Given the description of an element on the screen output the (x, y) to click on. 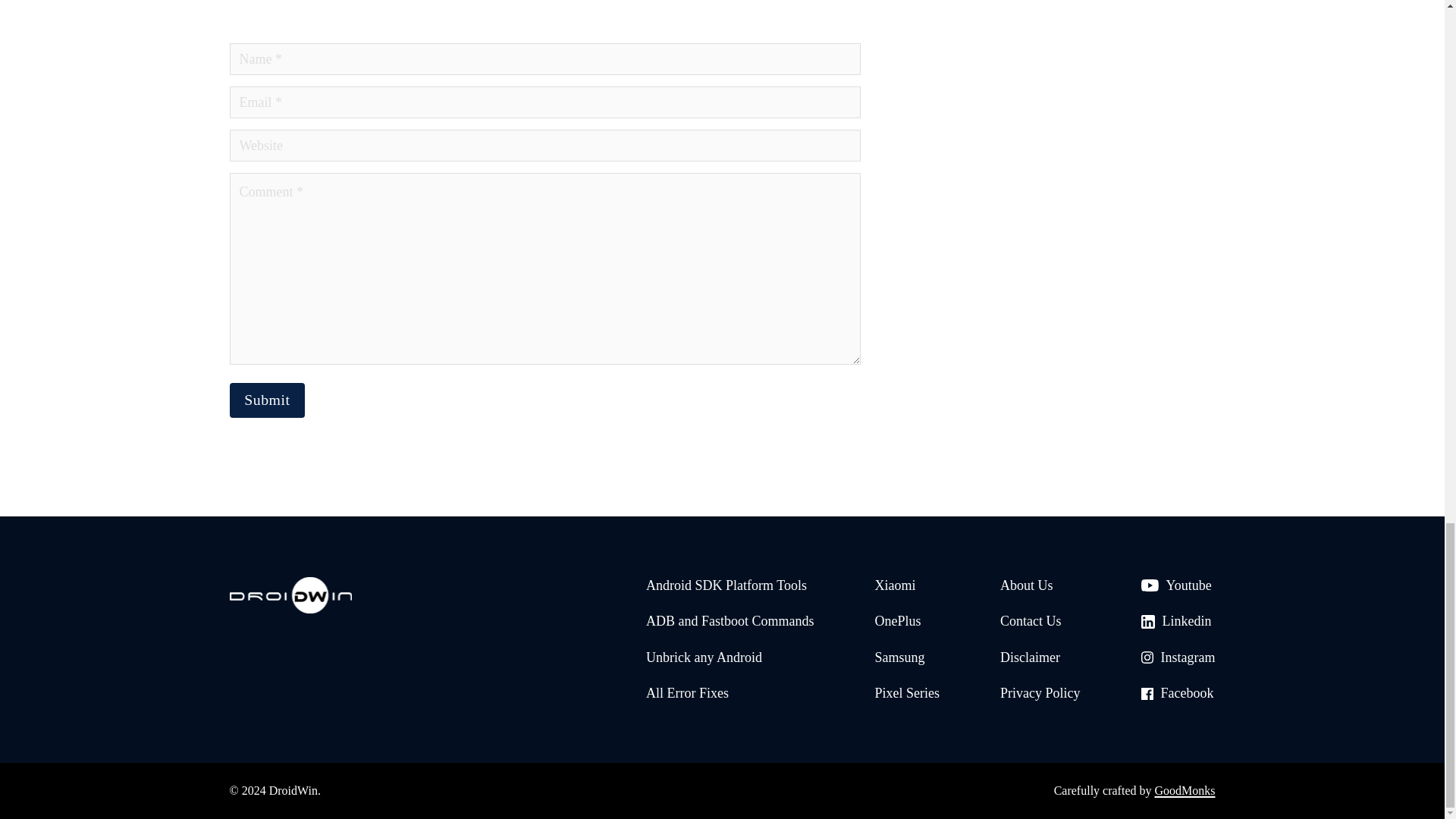
Submit (266, 400)
Submit (266, 400)
Droidwin (290, 598)
